Given the description of an element on the screen output the (x, y) to click on. 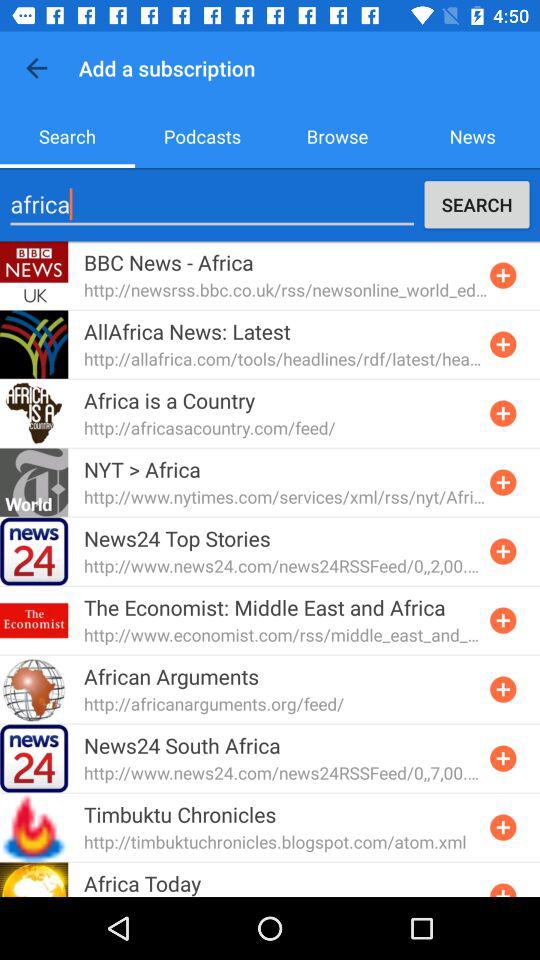
select new york times article on africa (503, 482)
